Given the description of an element on the screen output the (x, y) to click on. 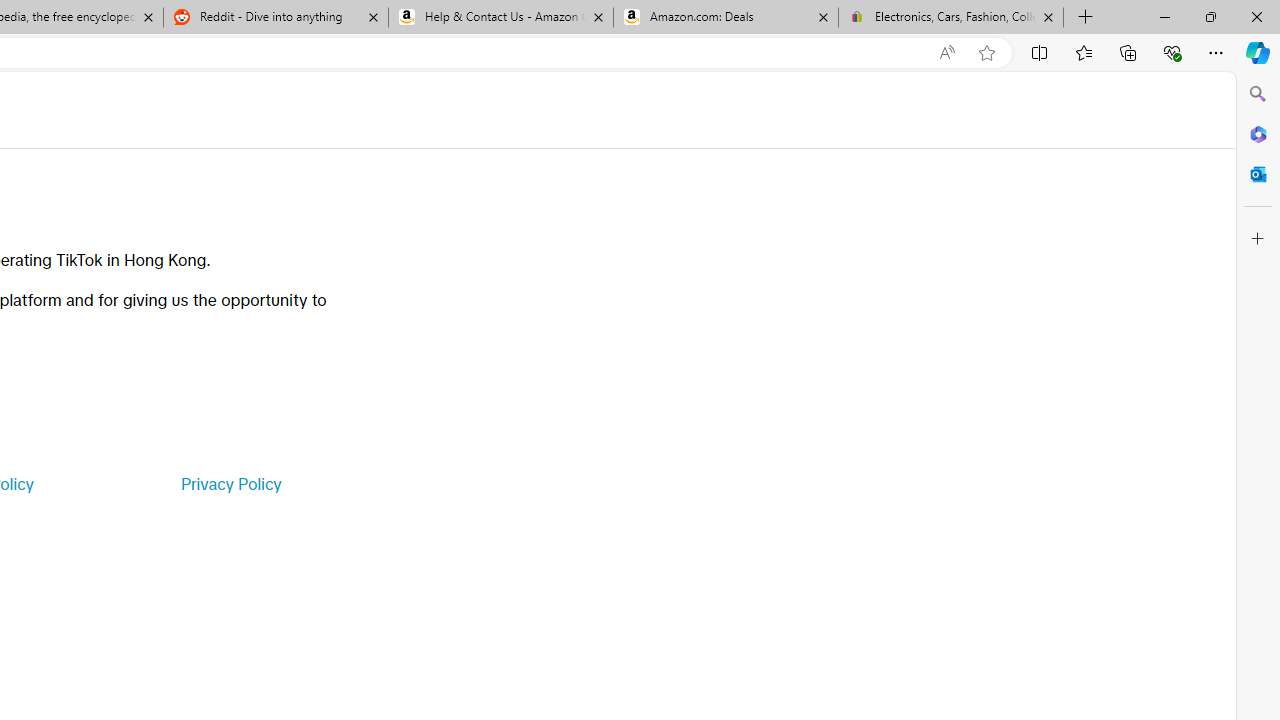
Help & Contact Us - Amazon Customer Service (501, 17)
Reddit - Dive into anything (275, 17)
